Given the description of an element on the screen output the (x, y) to click on. 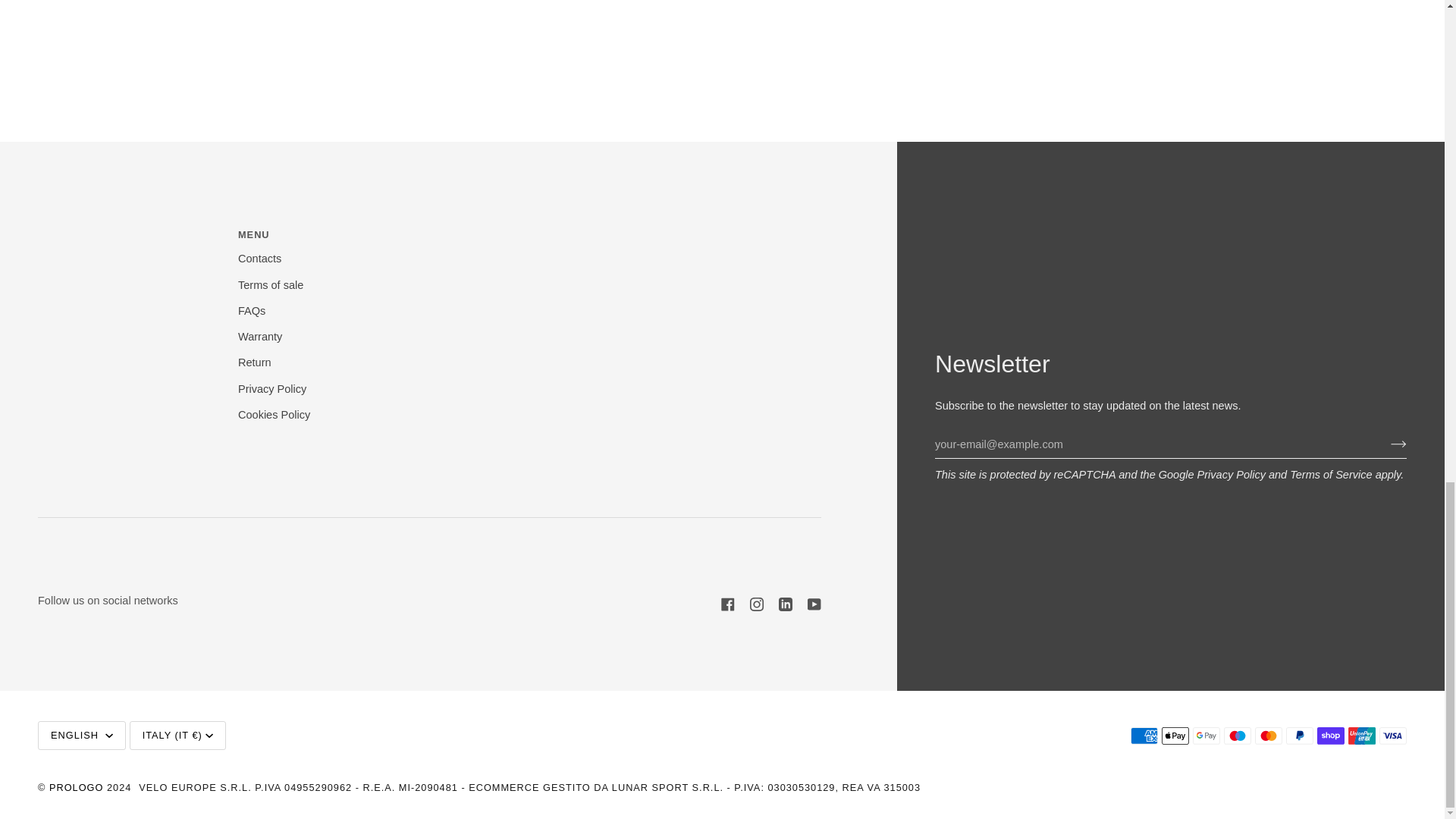
GOOGLE PAY (1206, 735)
MAESTRO (1237, 735)
YouTube (814, 603)
AMERICAN EXPRESS (1144, 735)
Instagram (755, 603)
MASTERCARD (1268, 735)
PAYPAL (1299, 735)
VISA (1392, 735)
SHOP PAY (1330, 735)
Linkedin (785, 603)
APPLE PAY (1175, 735)
Facebook (727, 603)
UNION PAY (1361, 735)
